Given the description of an element on the screen output the (x, y) to click on. 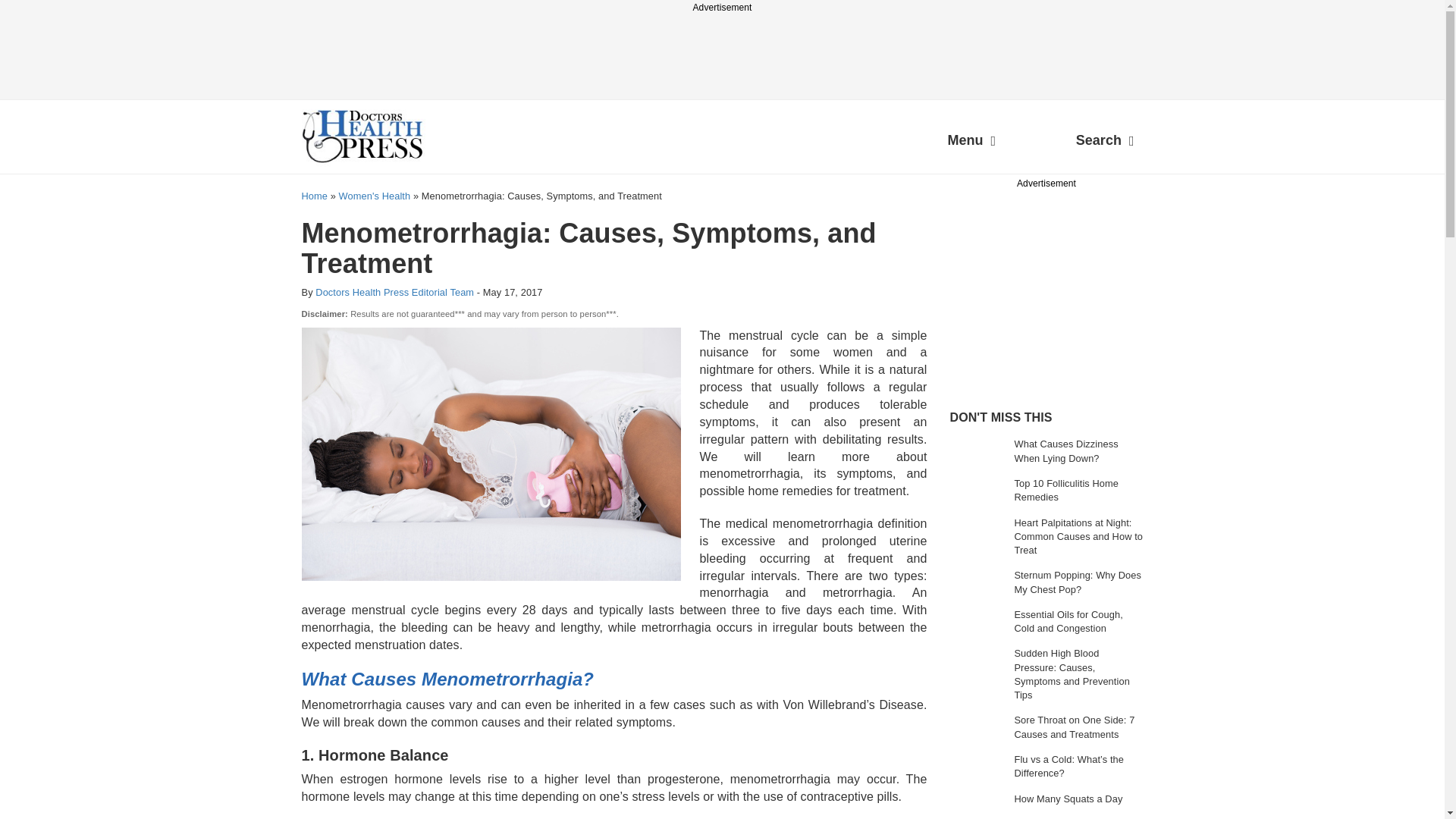
Advertisement (721, 49)
Posts by Doctors Health Press Editorial Team (394, 292)
Search (1104, 142)
Menu (970, 142)
Advertisement (1062, 286)
